Given the description of an element on the screen output the (x, y) to click on. 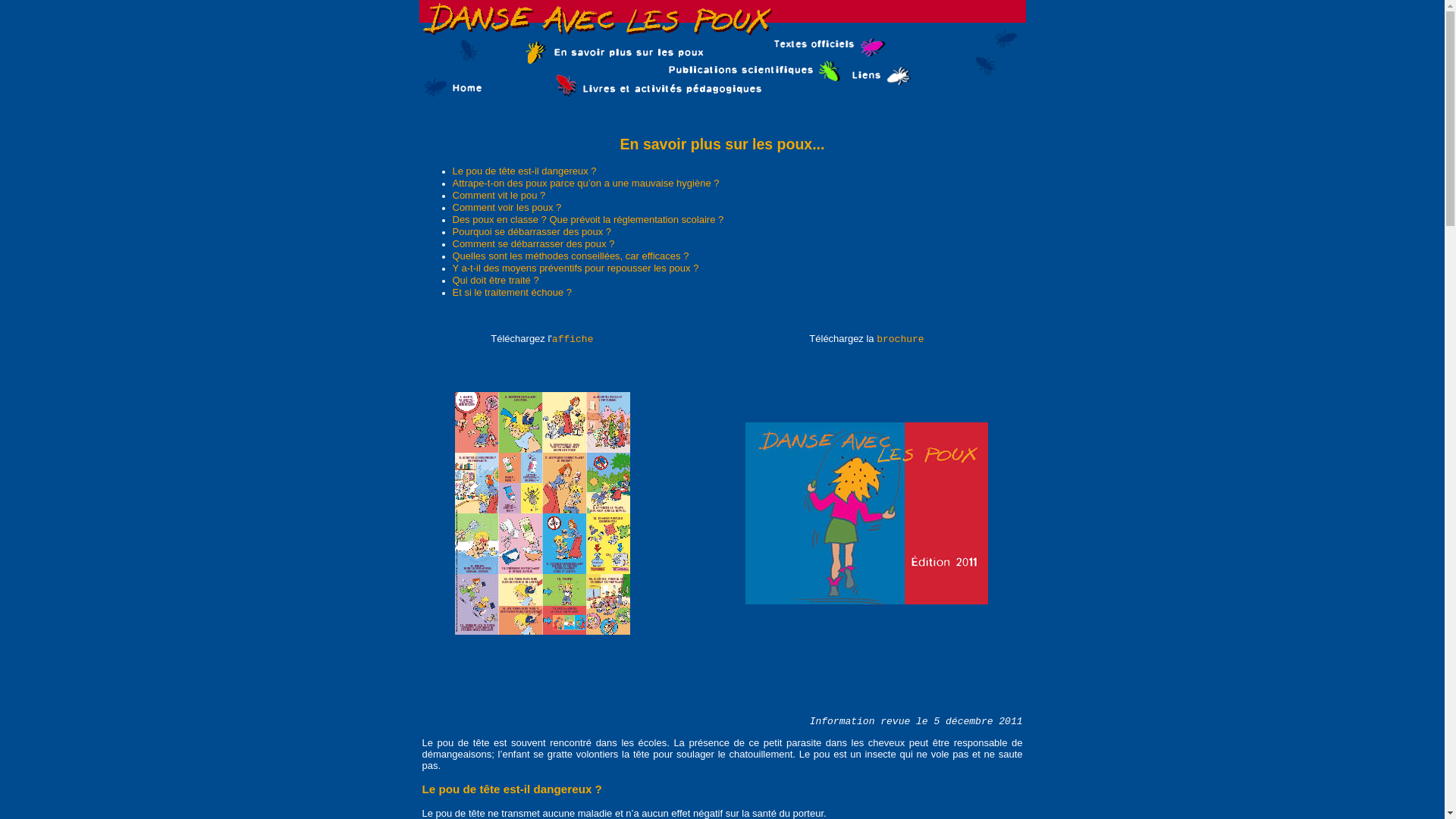
affiche Element type: text (572, 339)
PDF 270 Ko Element type: hover (542, 631)
Comment vit le pou ? Element type: text (498, 195)
PDF 405 Ko Element type: hover (866, 601)
Comment voir les poux ? Element type: text (506, 207)
brochure Element type: text (899, 339)
